Given the description of an element on the screen output the (x, y) to click on. 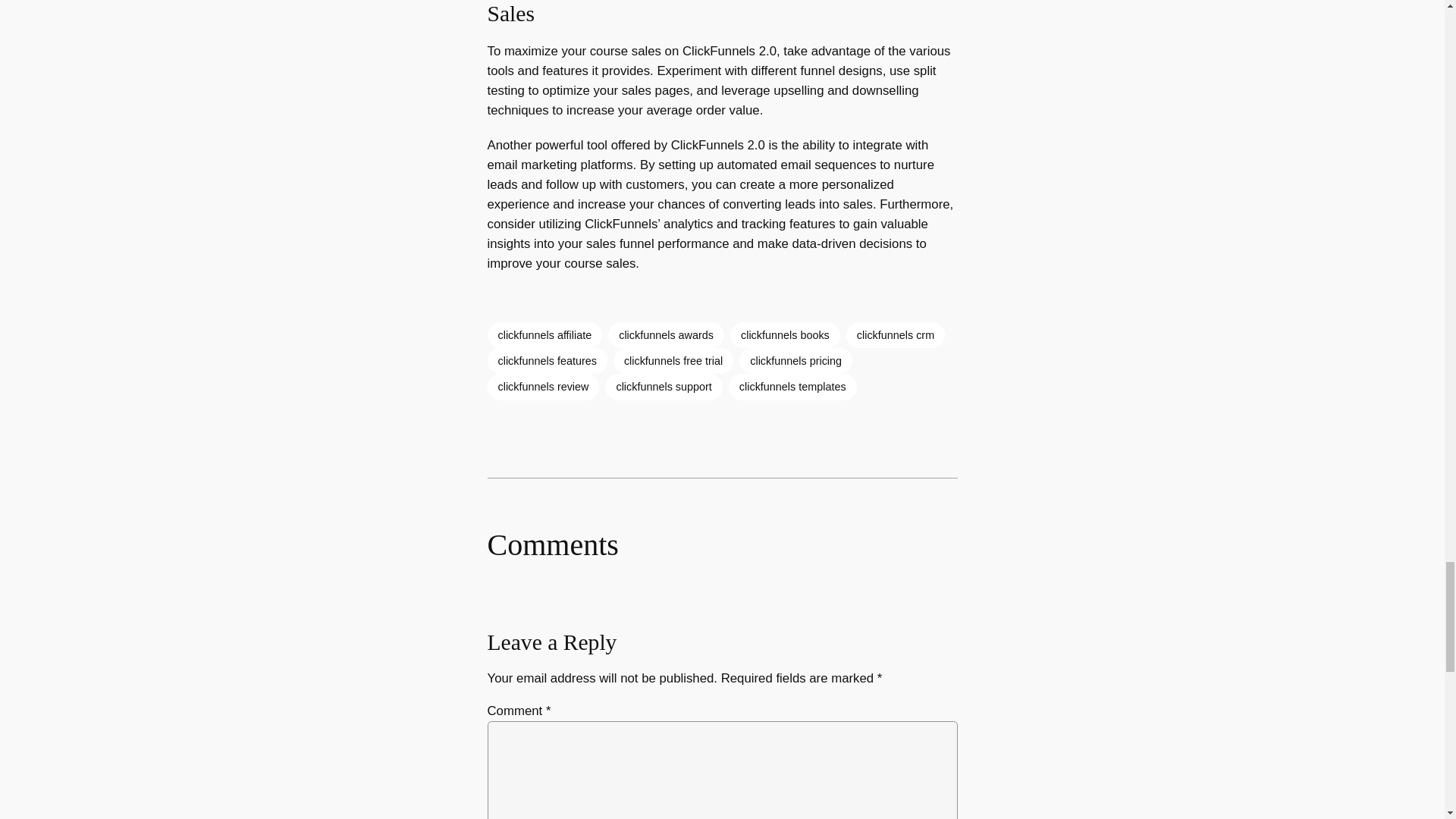
clickfunnels review (542, 386)
clickfunnels pricing (795, 360)
clickfunnels free trial (672, 360)
clickfunnels templates (793, 386)
clickfunnels crm (894, 335)
clickfunnels features (546, 360)
clickfunnels affiliate (544, 335)
clickfunnels support (663, 386)
clickfunnels books (785, 335)
clickfunnels awards (665, 335)
